Given the description of an element on the screen output the (x, y) to click on. 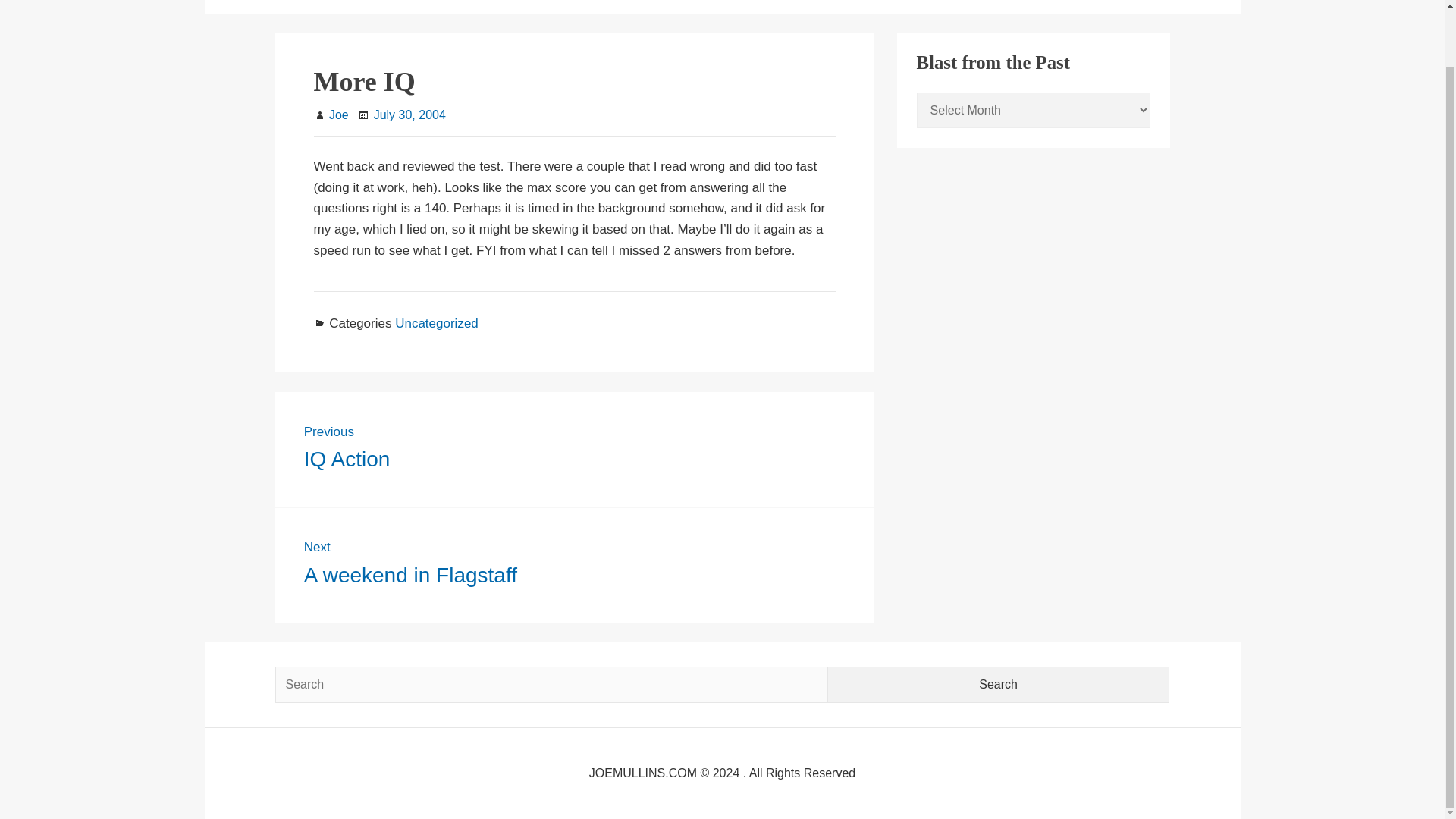
Joe (575, 449)
Search (339, 114)
Search (999, 684)
Search (999, 684)
Search for: (999, 684)
Uncategorized (575, 564)
July 30, 2004 (551, 684)
